Given the description of an element on the screen output the (x, y) to click on. 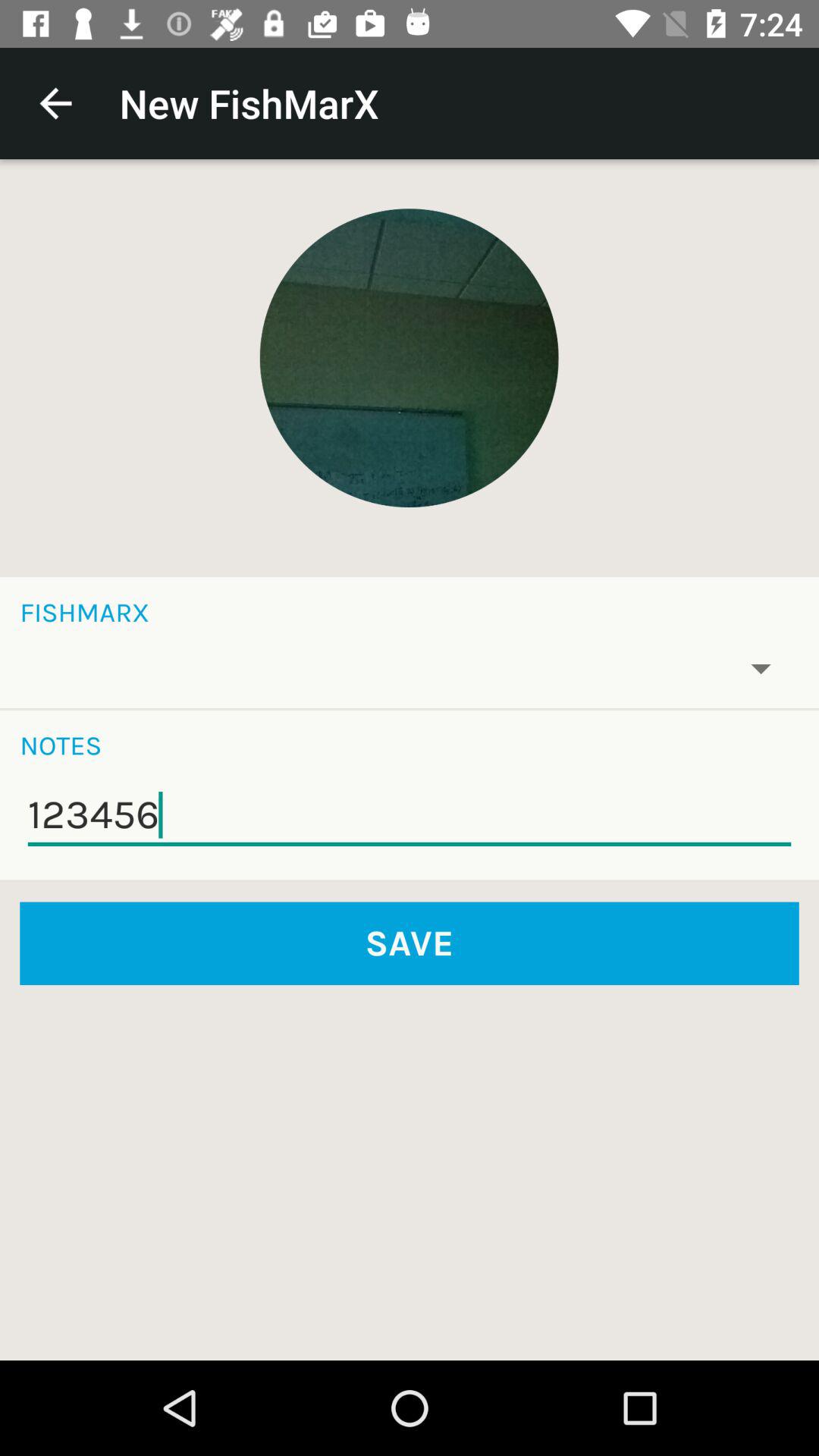
swipe to the 123456 (409, 815)
